Given the description of an element on the screen output the (x, y) to click on. 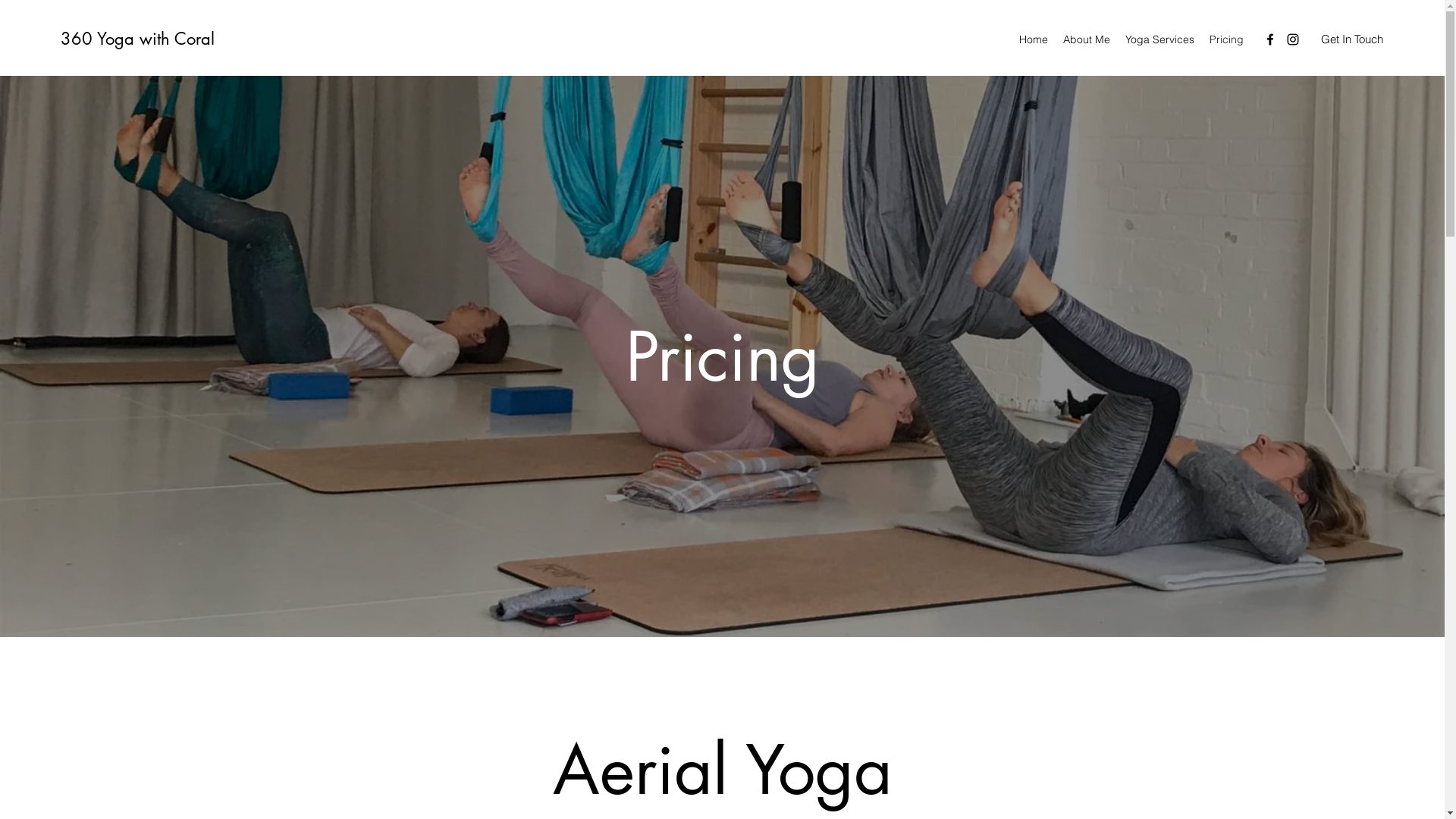
Pricing Element type: text (1226, 39)
About Me Element type: text (1086, 39)
Home Element type: text (1033, 39)
Get In Touch Element type: text (1351, 39)
